Given the description of an element on the screen output the (x, y) to click on. 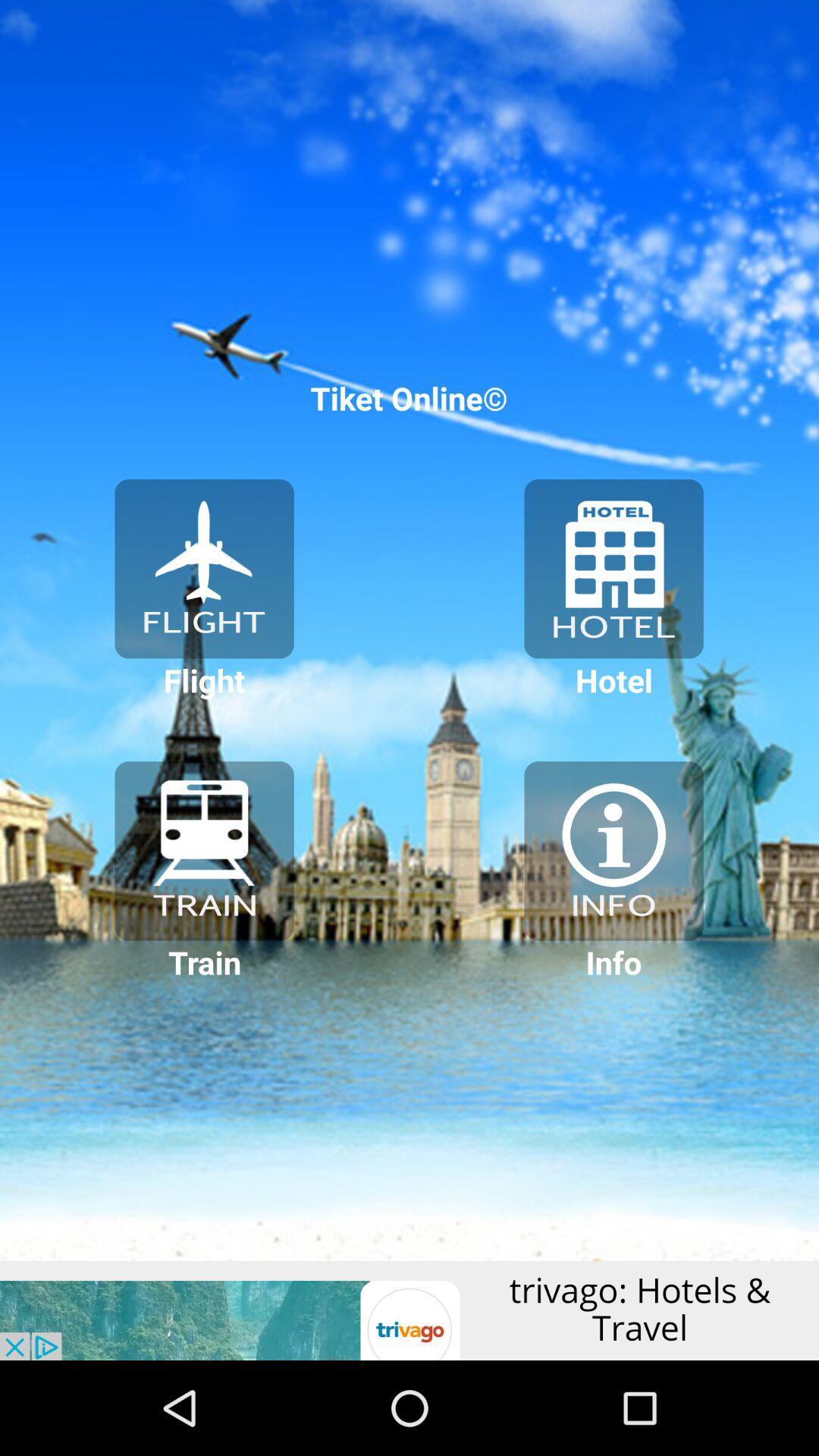
plans the flight (204, 568)
